Given the description of an element on the screen output the (x, y) to click on. 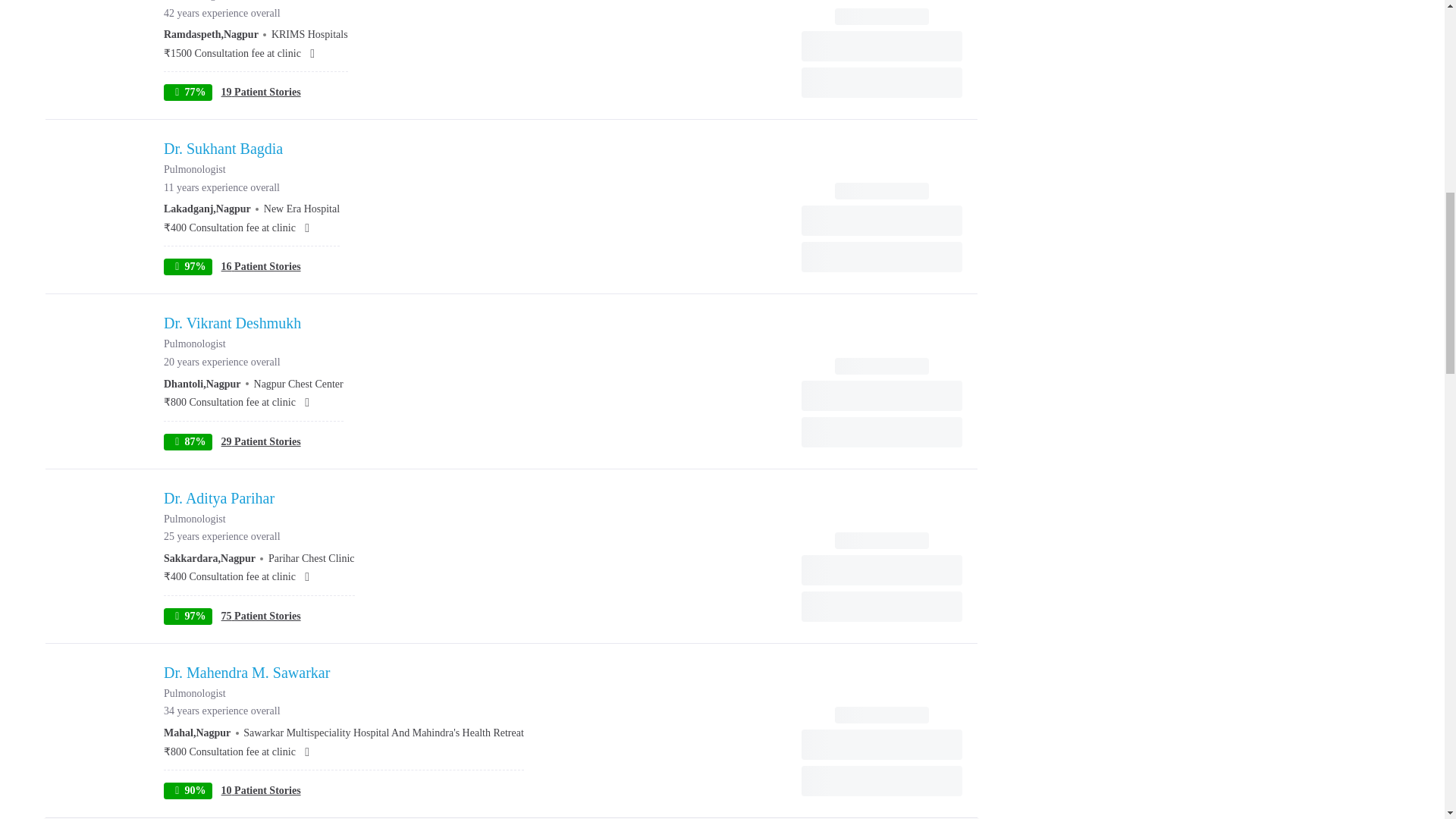
Dr. Sukhant Bagdia (251, 148)
Dr. Mahendra M. Sawarkar (343, 672)
Parihar Chest Clinic (311, 558)
Lakadganj,Nagpur (206, 208)
Dhantoli,Nagpur (202, 383)
New Era Hospital (301, 208)
KRIMS Hospitals (308, 34)
Mahal,Nagpur (196, 732)
75 Patient Stories (261, 615)
